Given the description of an element on the screen output the (x, y) to click on. 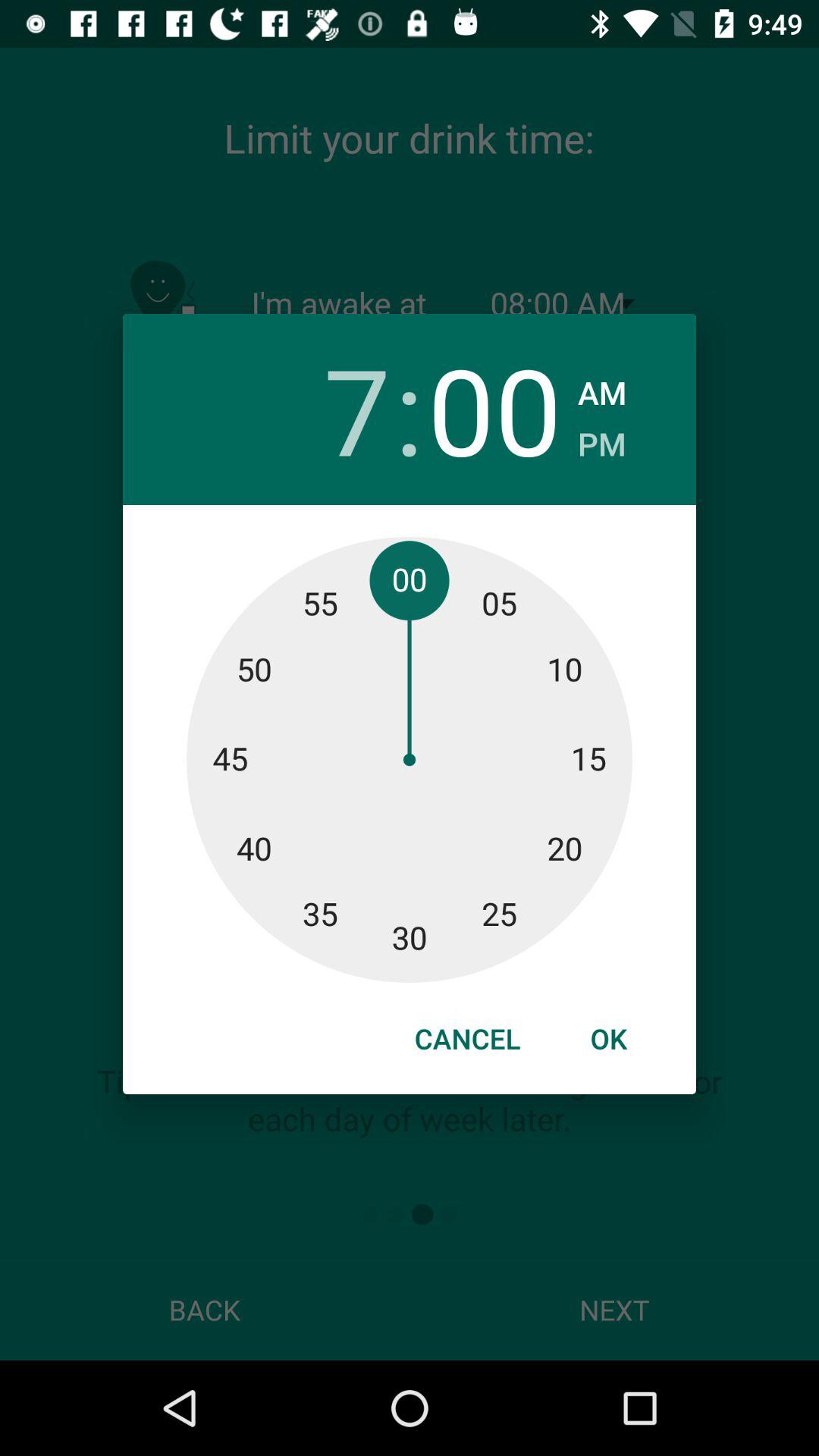
press the item next to cancel item (608, 1038)
